Given the description of an element on the screen output the (x, y) to click on. 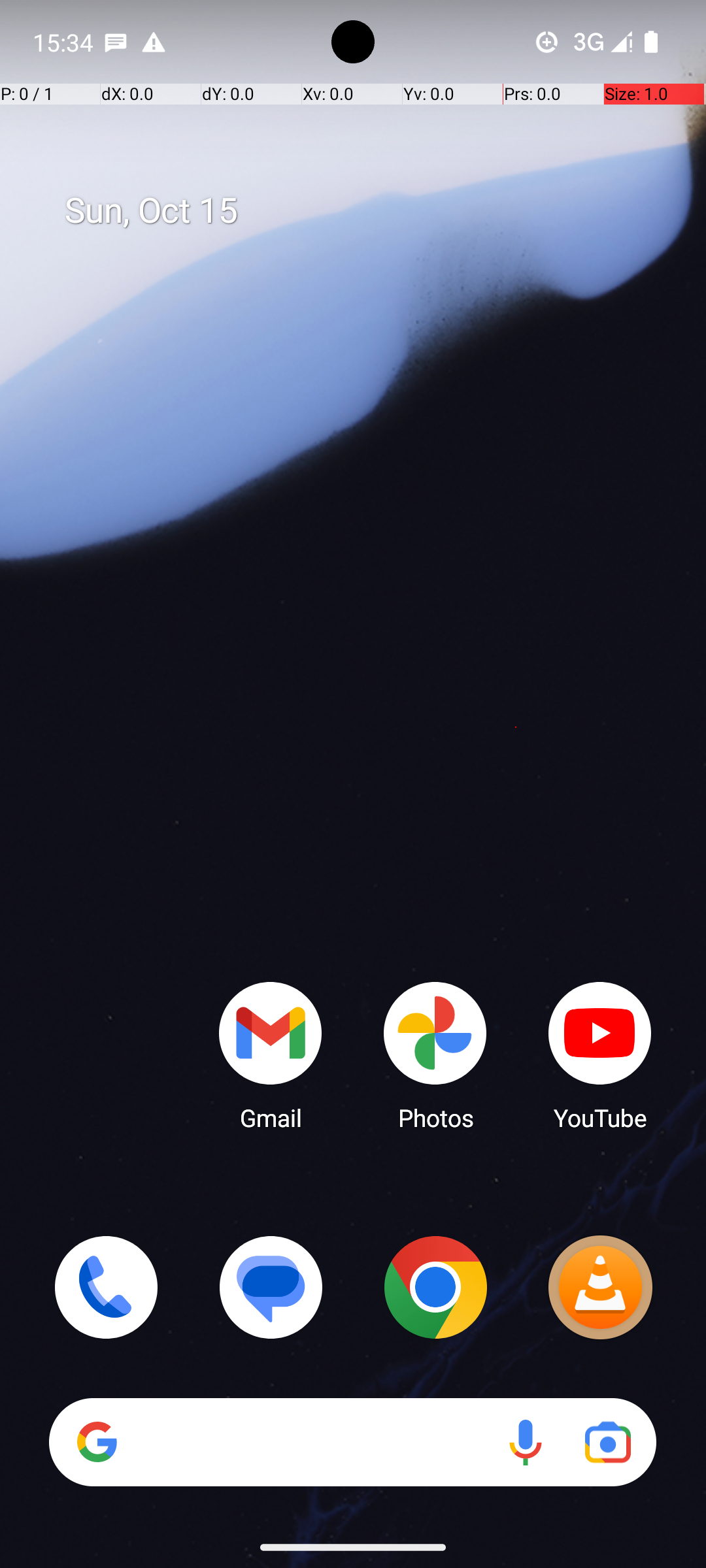
VLC Element type: android.widget.TextView (599, 1287)
